Given the description of an element on the screen output the (x, y) to click on. 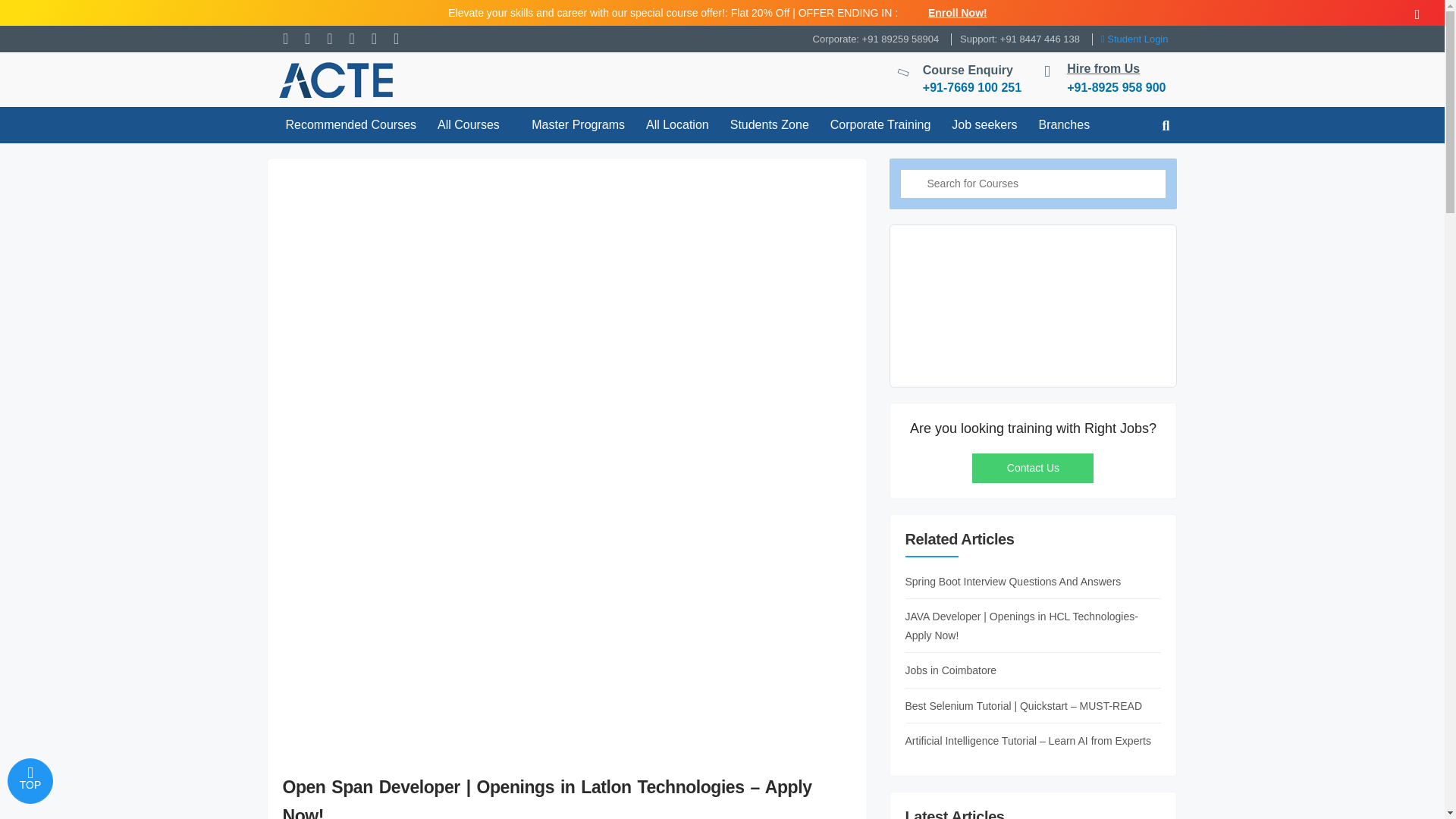
Jobs in Coimbatore (1033, 673)
TOP (29, 780)
Spring Boot Interview Questions And Answers (1033, 584)
Search (915, 183)
Linkedin (350, 38)
Instagram (373, 38)
Support (1019, 38)
Hire from Us (1103, 68)
Facebook (285, 38)
student login (1134, 38)
Pinterest (395, 38)
Student Login (1134, 38)
Recommended Courses (350, 124)
Search (915, 183)
Youtube (328, 38)
